Given the description of an element on the screen output the (x, y) to click on. 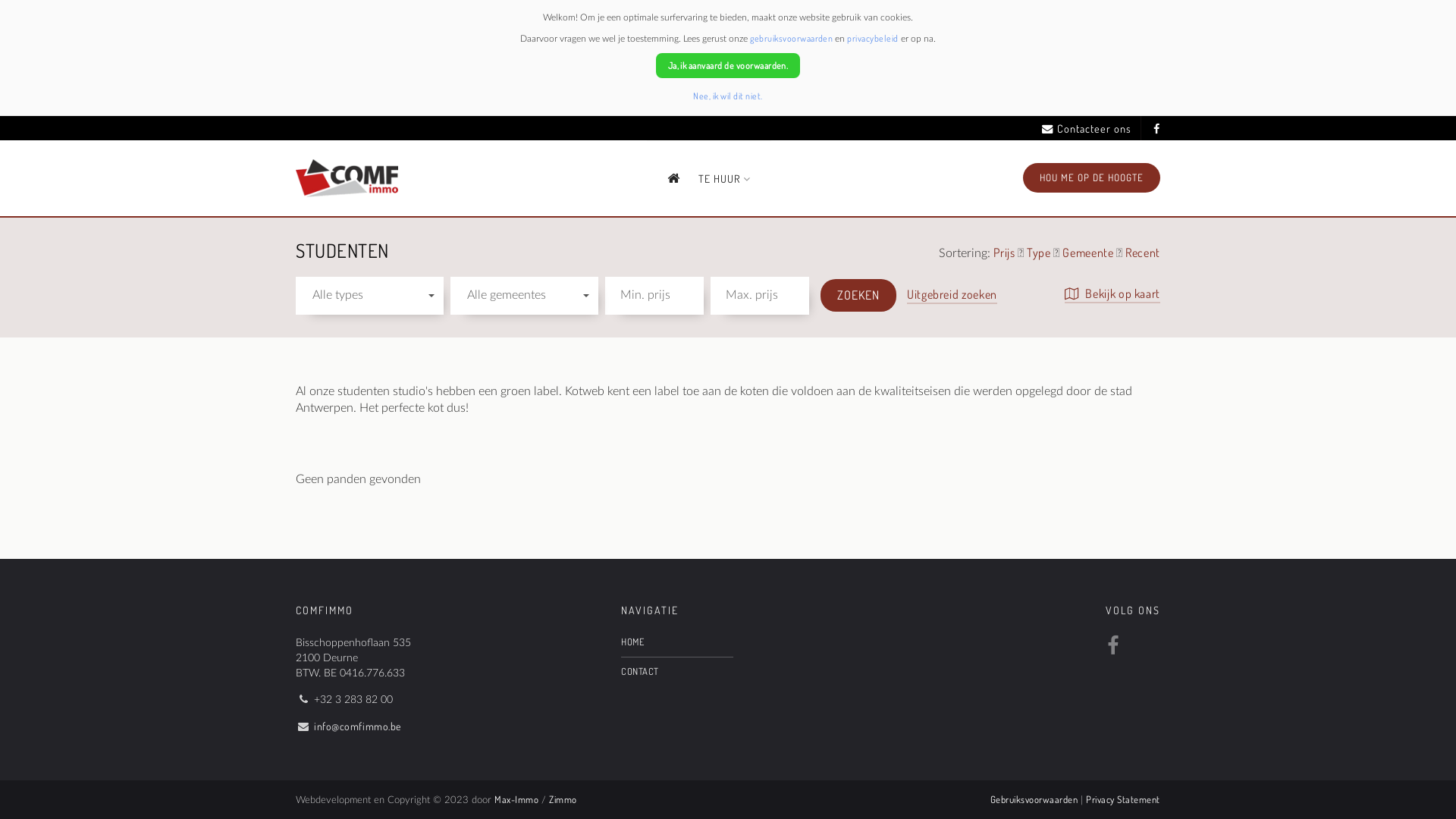
Recent Element type: text (1142, 253)
privacybeleid Element type: text (872, 37)
CONTACT Element type: text (676, 671)
Uitgebreid zoeken Element type: text (951, 295)
Prijs Element type: text (1005, 253)
HOME Element type: text (676, 642)
Alle gemeentes
  Element type: text (524, 295)
Bekijk op kaart Element type: text (1112, 294)
Contacteer ons Element type: text (1086, 128)
Privacy Statement Element type: text (1122, 799)
Ja, ik aanvaard de voorwaarden. Element type: text (727, 65)
Alle types
  Element type: text (369, 295)
Zoeken Element type: text (858, 295)
Nee, ik wil dit niet. Element type: text (727, 95)
Zimmo Element type: text (563, 799)
info@comfimmo.be Element type: text (357, 725)
gebruiksvoorwaarden Element type: text (790, 37)
HOU ME OP DE HOOGTE Element type: text (1091, 177)
Gemeente Element type: text (1089, 253)
Max-Immo Element type: text (516, 799)
Gebruiksvoorwaarden Element type: text (1034, 799)
Type Element type: text (1039, 253)
TE HUUR Element type: text (724, 178)
